Given the description of an element on the screen output the (x, y) to click on. 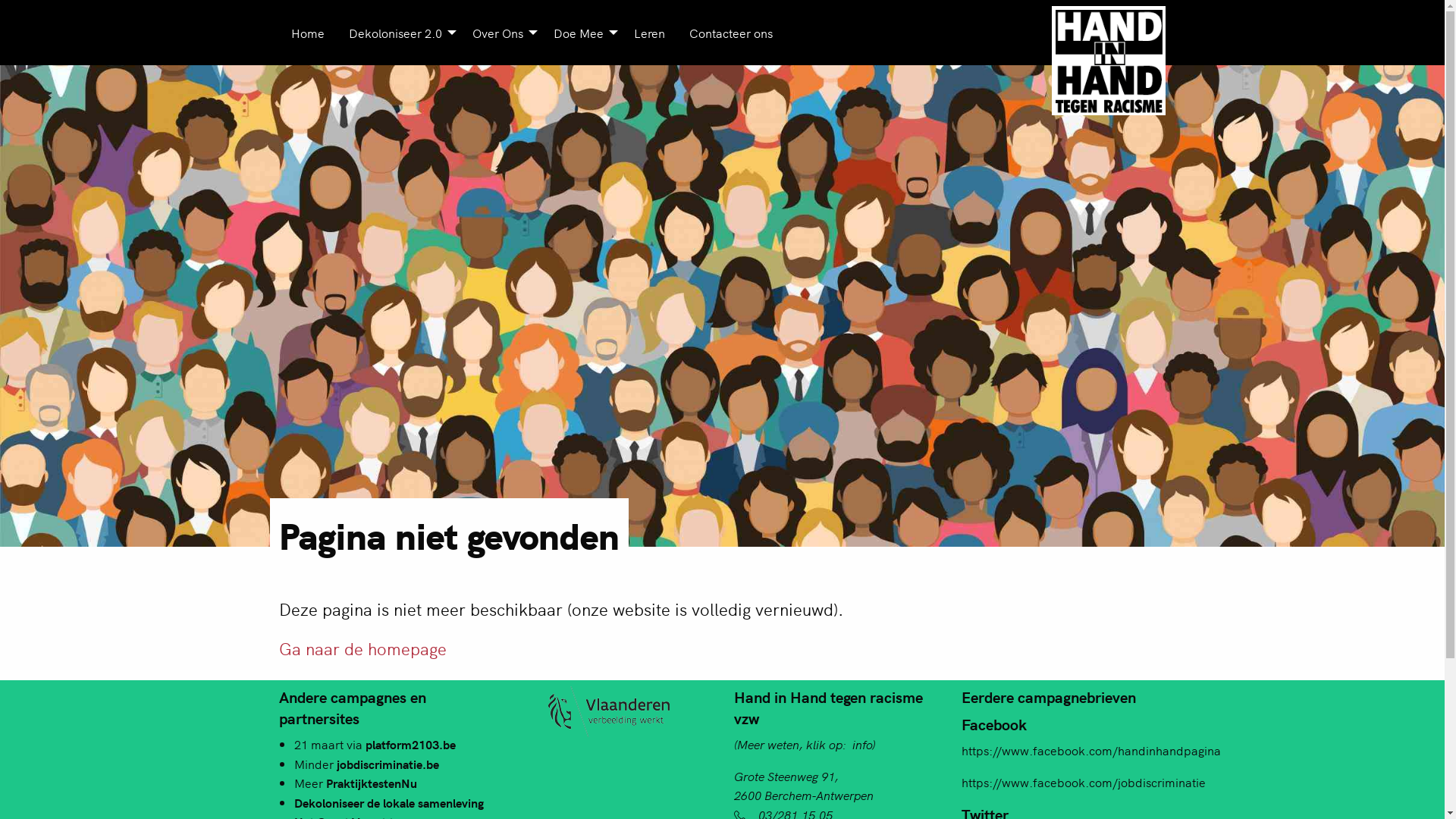
Contacteer ons Element type: text (730, 32)
platform2103.be Element type: text (410, 743)
https://www.facebook.com/handinhandpagina Element type: text (1090, 749)
Doe Mee Element type: text (581, 32)
Leren Element type: text (649, 32)
PraktijktestenNu Element type: text (371, 782)
Ga naar de homepage Element type: text (362, 647)
Dekoloniseer de lokale samenleving Element type: text (388, 801)
Dekoloniseer 2.0 Element type: text (398, 32)
Over Ons Element type: text (499, 32)
jobdiscriminatie.be Element type: text (387, 763)
Home Element type: text (307, 32)
Overslaan en naar de inhoud gaan Element type: text (0, 0)
https://www.facebook.com/jobdiscriminatie Element type: text (1083, 781)
info Element type: text (862, 743)
Eerdere campagnebrieven Element type: text (1048, 696)
